Given the description of an element on the screen output the (x, y) to click on. 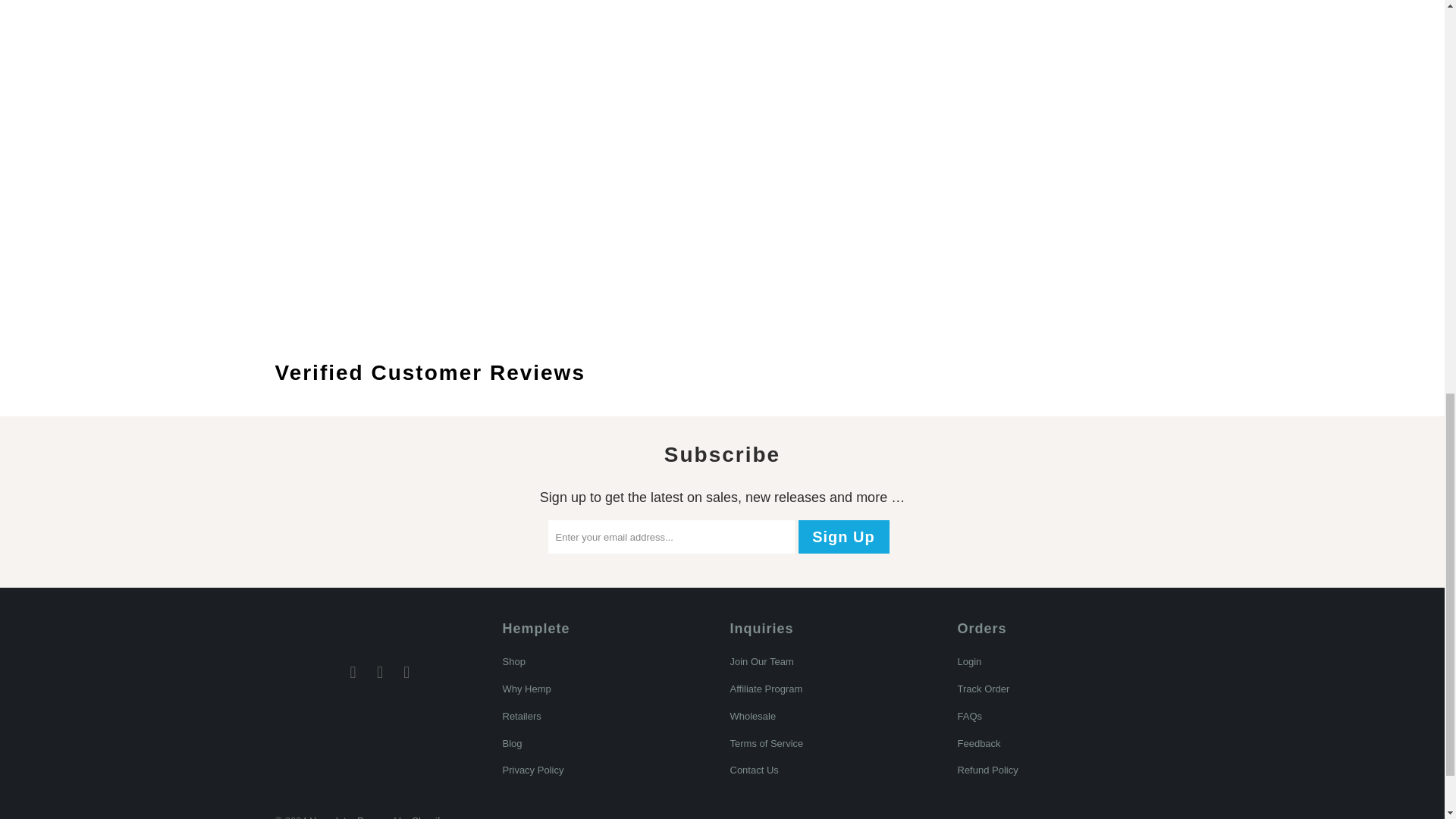
Sign Up (842, 536)
Hemplete on Facebook (353, 672)
Email Hemplete (407, 672)
Hemplete on Instagram (380, 672)
